Given the description of an element on the screen output the (x, y) to click on. 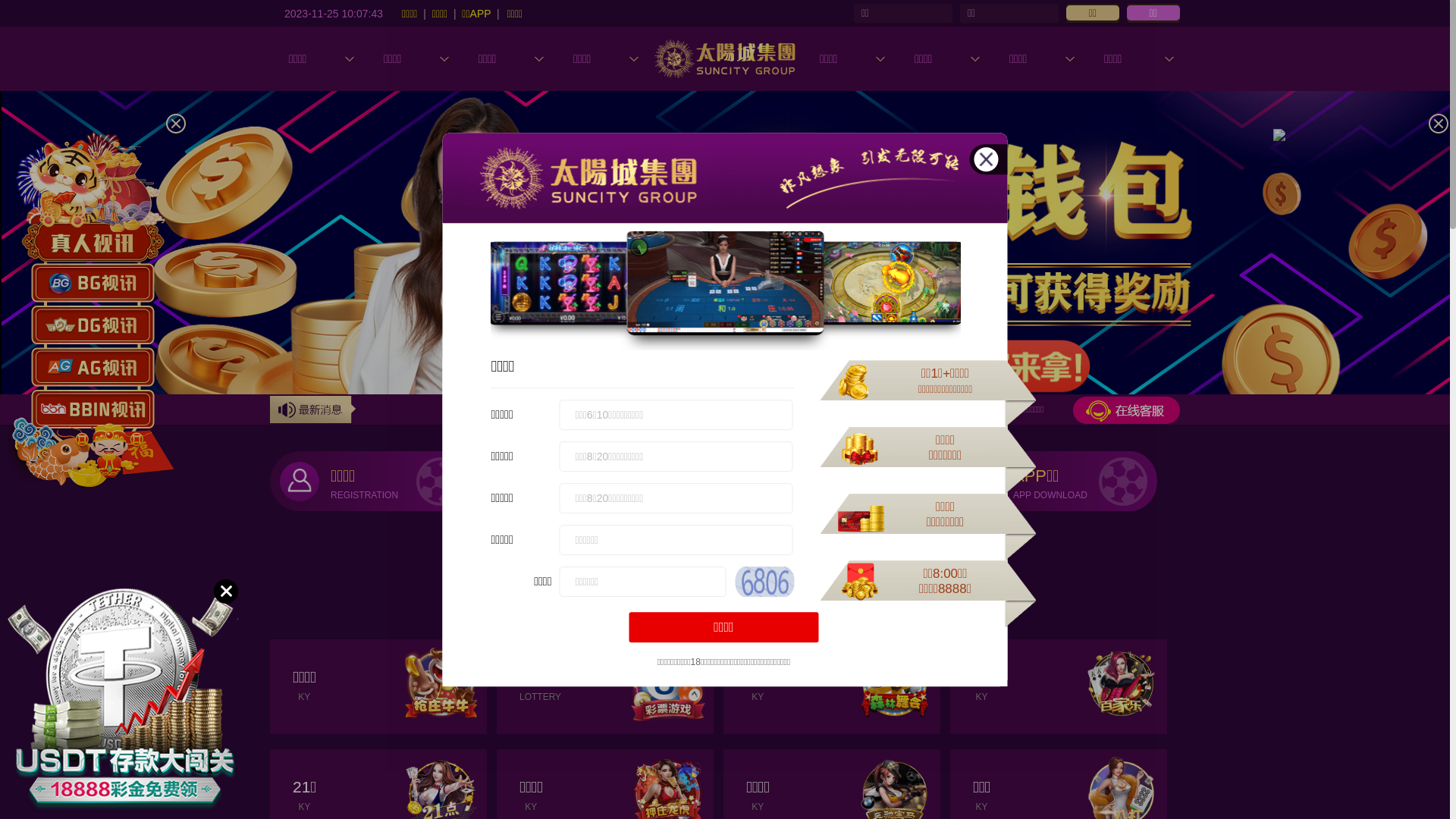
2023-11-25 10:07:42 Element type: text (333, 12)
